Given the description of an element on the screen output the (x, y) to click on. 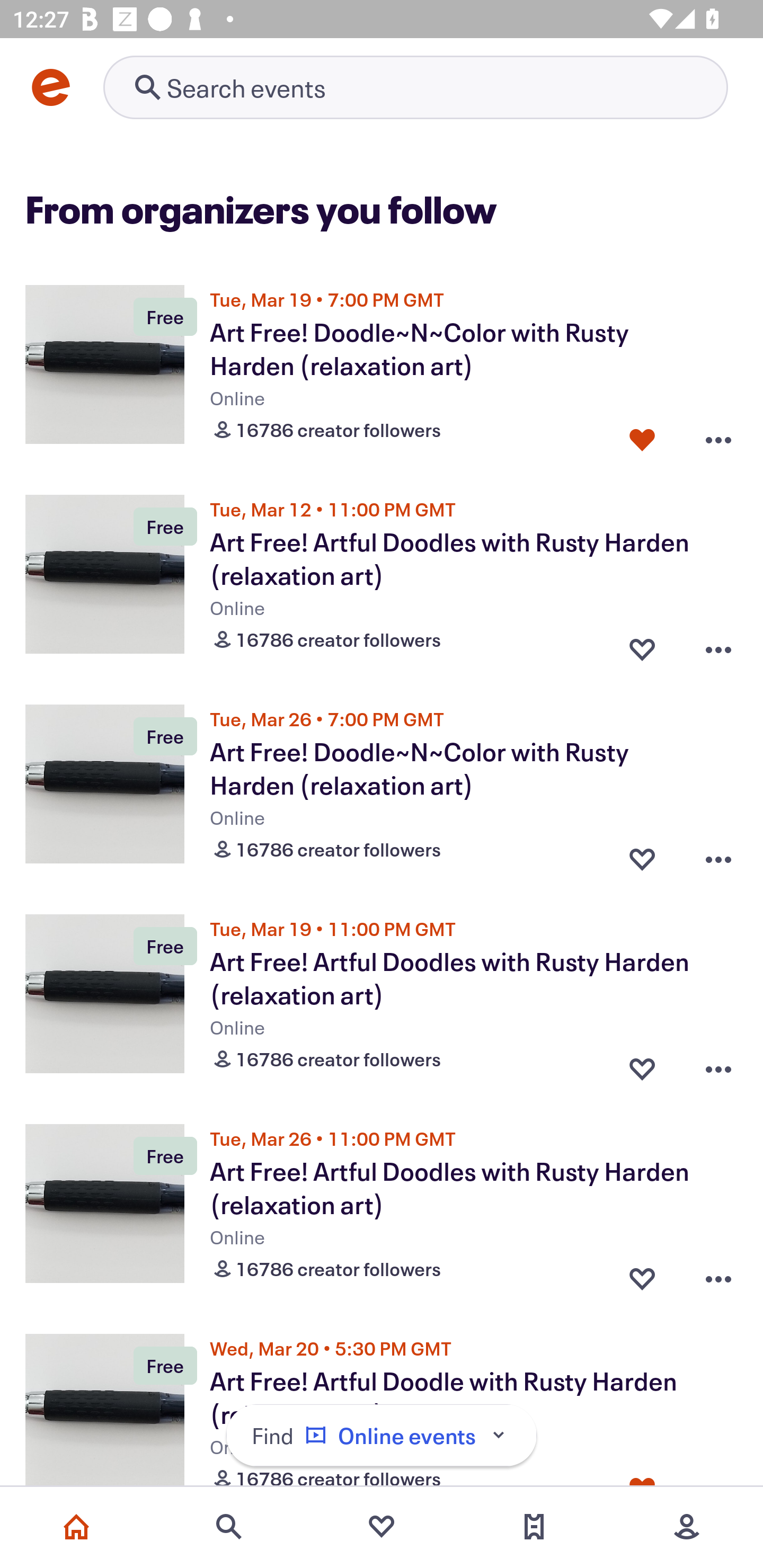
Retry's image Search events (415, 86)
Favorite button (642, 434)
Overflow menu button (718, 434)
Favorite button (642, 644)
Overflow menu button (718, 644)
Favorite button (642, 855)
Overflow menu button (718, 855)
Favorite button (642, 1065)
Overflow menu button (718, 1065)
Favorite button (642, 1274)
Overflow menu button (718, 1274)
Find Online events (381, 1435)
Home (76, 1526)
Search events (228, 1526)
Favorites (381, 1526)
Tickets (533, 1526)
More (686, 1526)
